Given the description of an element on the screen output the (x, y) to click on. 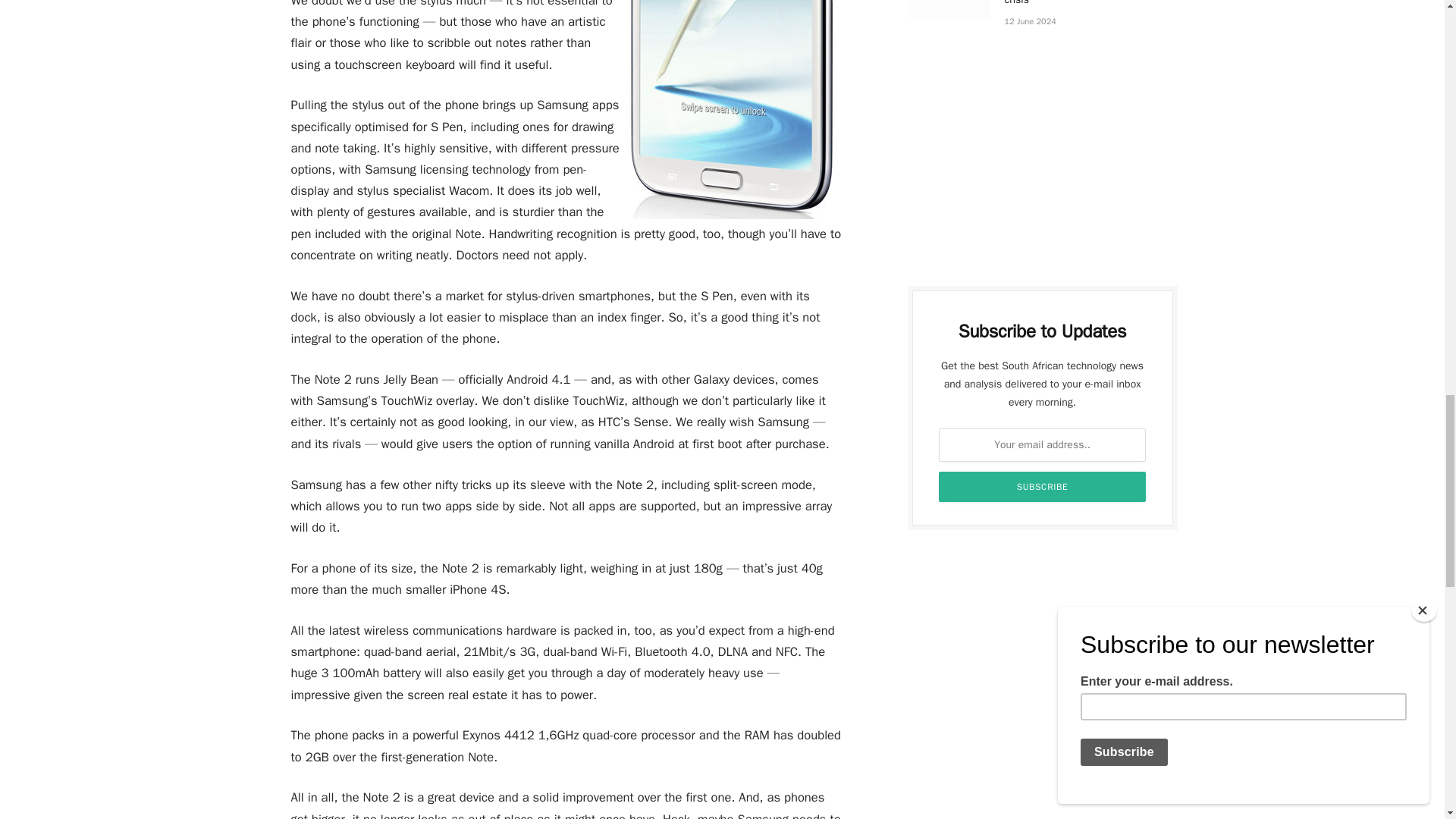
Subscribe (1043, 486)
